Given the description of an element on the screen output the (x, y) to click on. 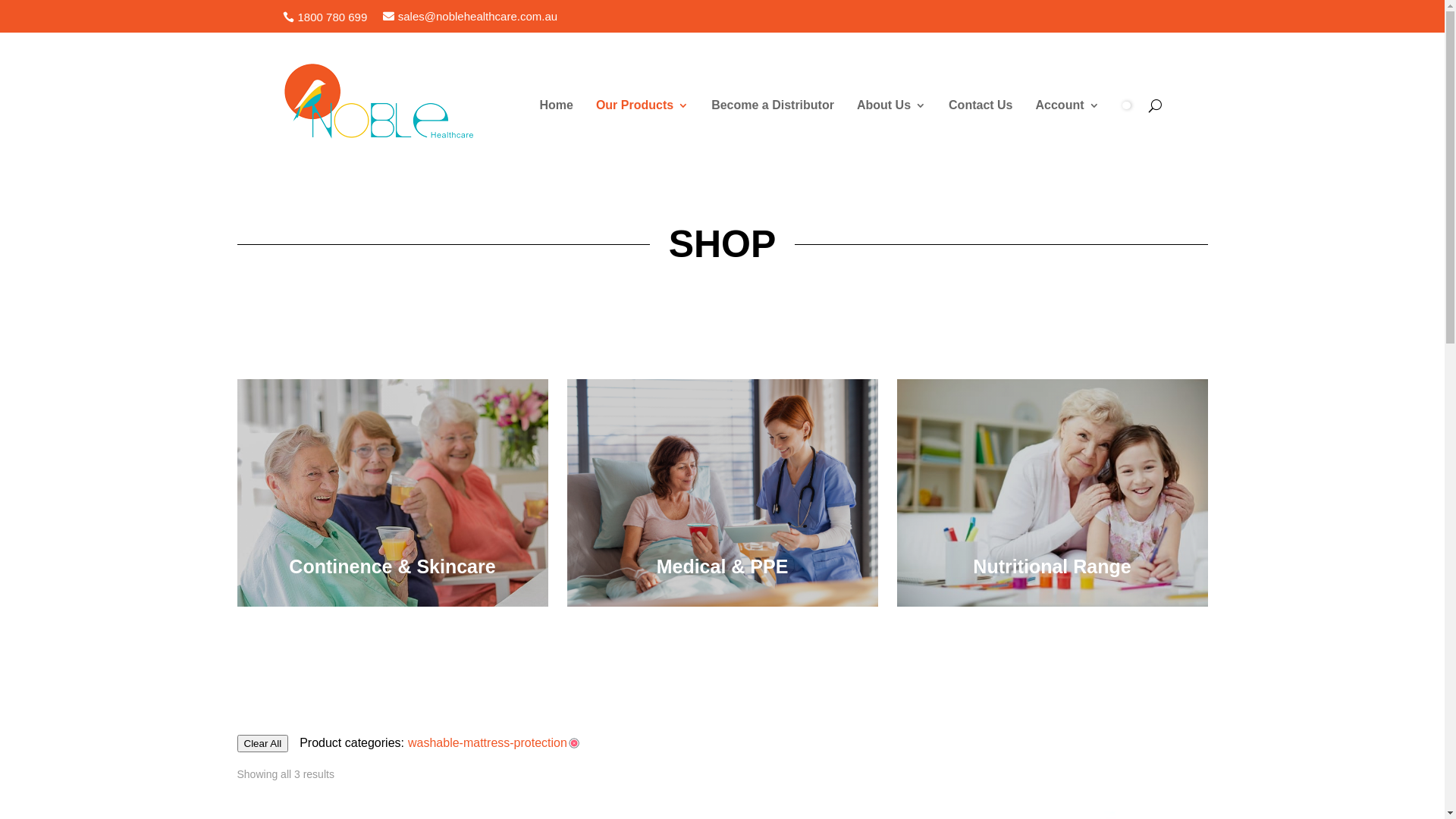
sales@noblehealthcare.com.au Element type: text (470, 16)
washable-mattress-protection Element type: text (493, 742)
Become a Distributor Element type: text (772, 105)
Account Element type: text (1067, 105)
1800 780 699 Element type: text (324, 17)
Contact Us Element type: text (980, 105)
Home Element type: text (555, 105)
Our Products Element type: text (642, 105)
Clear All Element type: text (262, 743)
About Us Element type: text (890, 105)
